Given the description of an element on the screen output the (x, y) to click on. 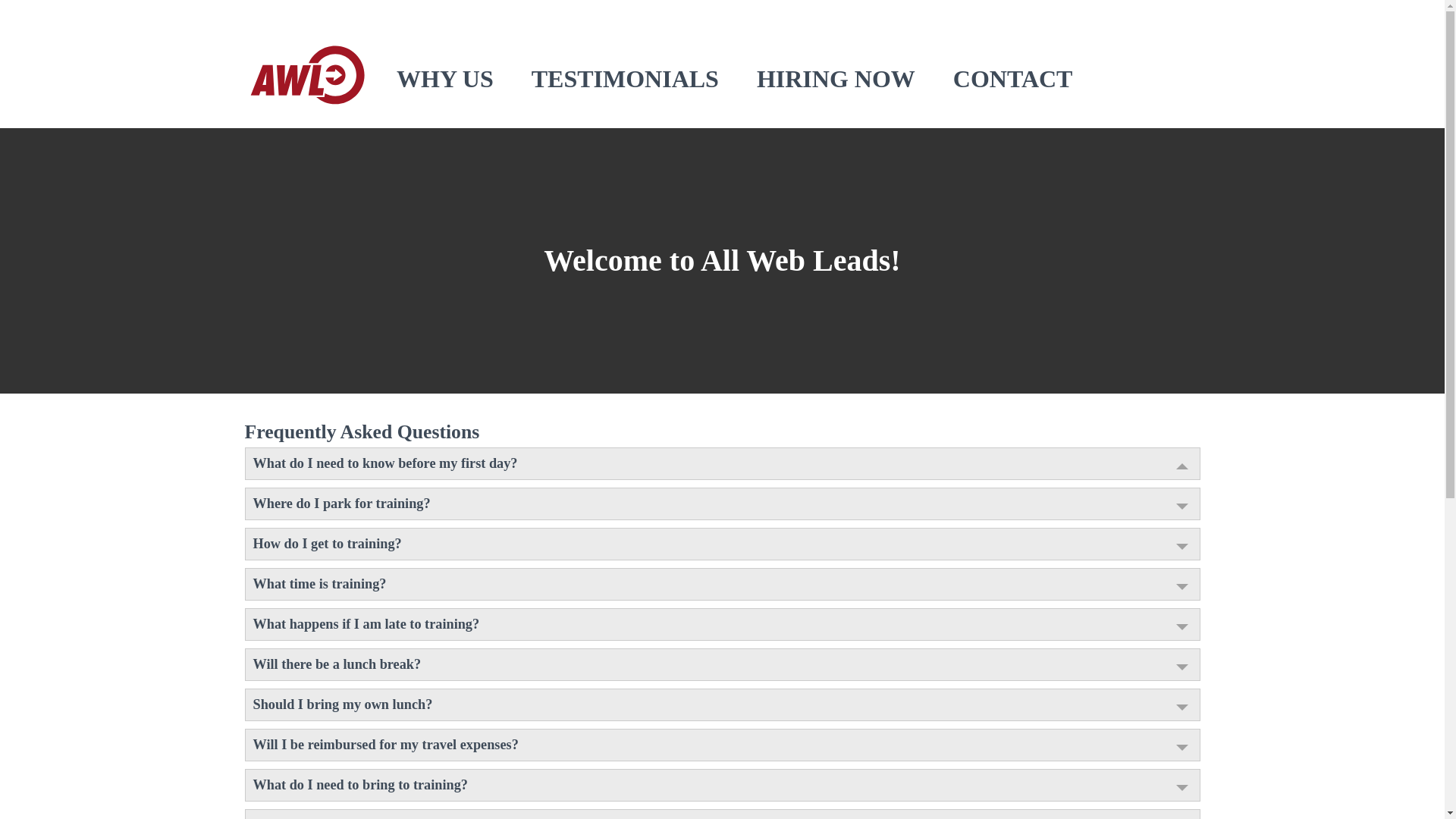
WHY US (444, 78)
HIRING NOW (836, 78)
CONTACT (1013, 78)
TESTIMONIALS (625, 78)
